Given the description of an element on the screen output the (x, y) to click on. 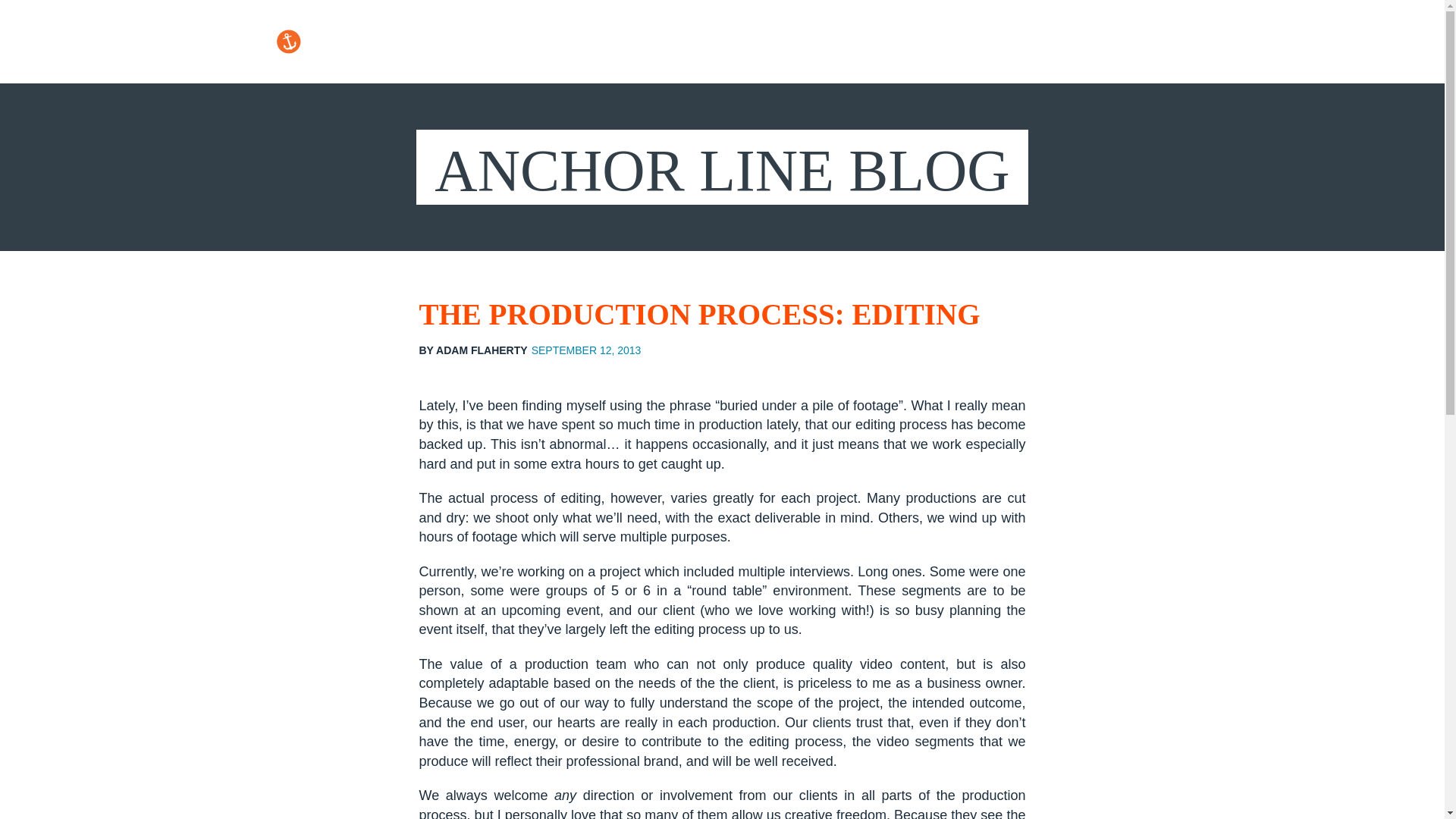
WHO WE ARE (1042, 42)
PORTFOLIO (818, 42)
CONTACT (1223, 42)
BLOG (1139, 42)
SERVICES (926, 42)
